Given the description of an element on the screen output the (x, y) to click on. 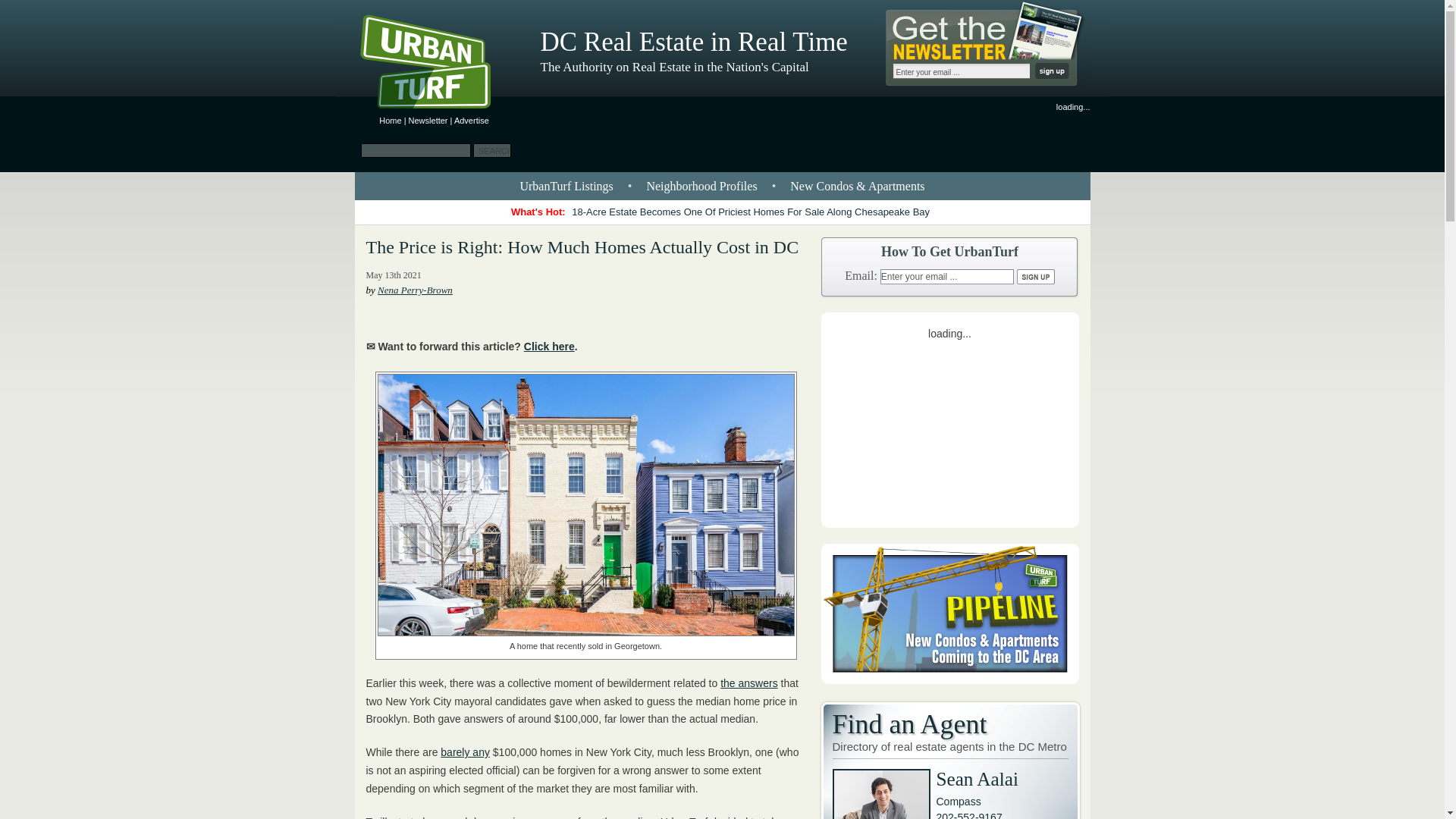
Advertise on UrbanTurf (471, 120)
Search (492, 150)
Nena Perry-Brown (414, 289)
The Price is Right: How Much Homes Actually Cost in DC (581, 247)
UrbanTurf (389, 120)
UrbanTurf Listings (566, 185)
Neighborhood Profiles (701, 185)
Search (492, 150)
Permalink (581, 247)
Enter your email ... (946, 276)
Home (389, 120)
Click here (549, 346)
